Given the description of an element on the screen output the (x, y) to click on. 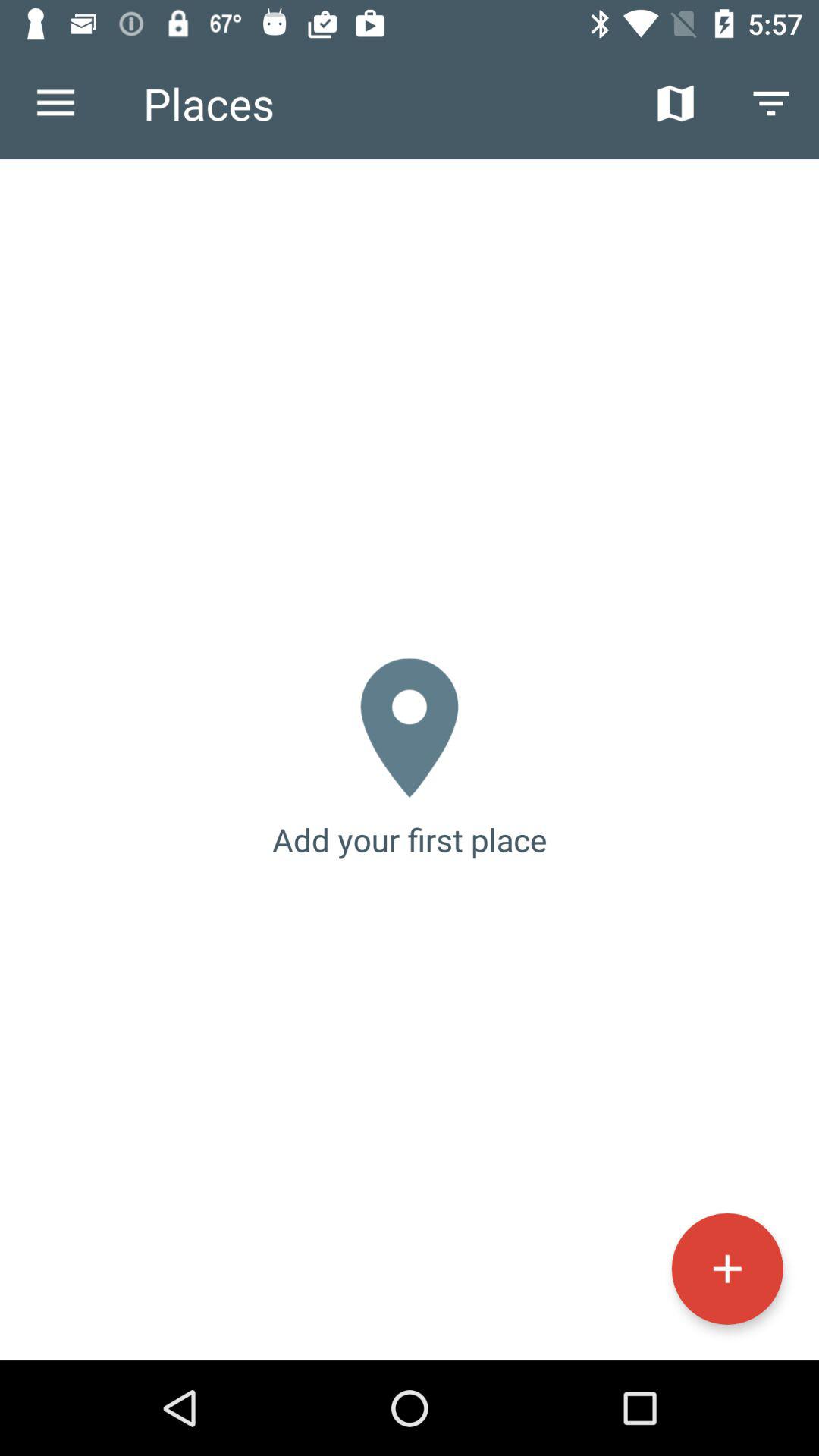
add place (727, 1268)
